Given the description of an element on the screen output the (x, y) to click on. 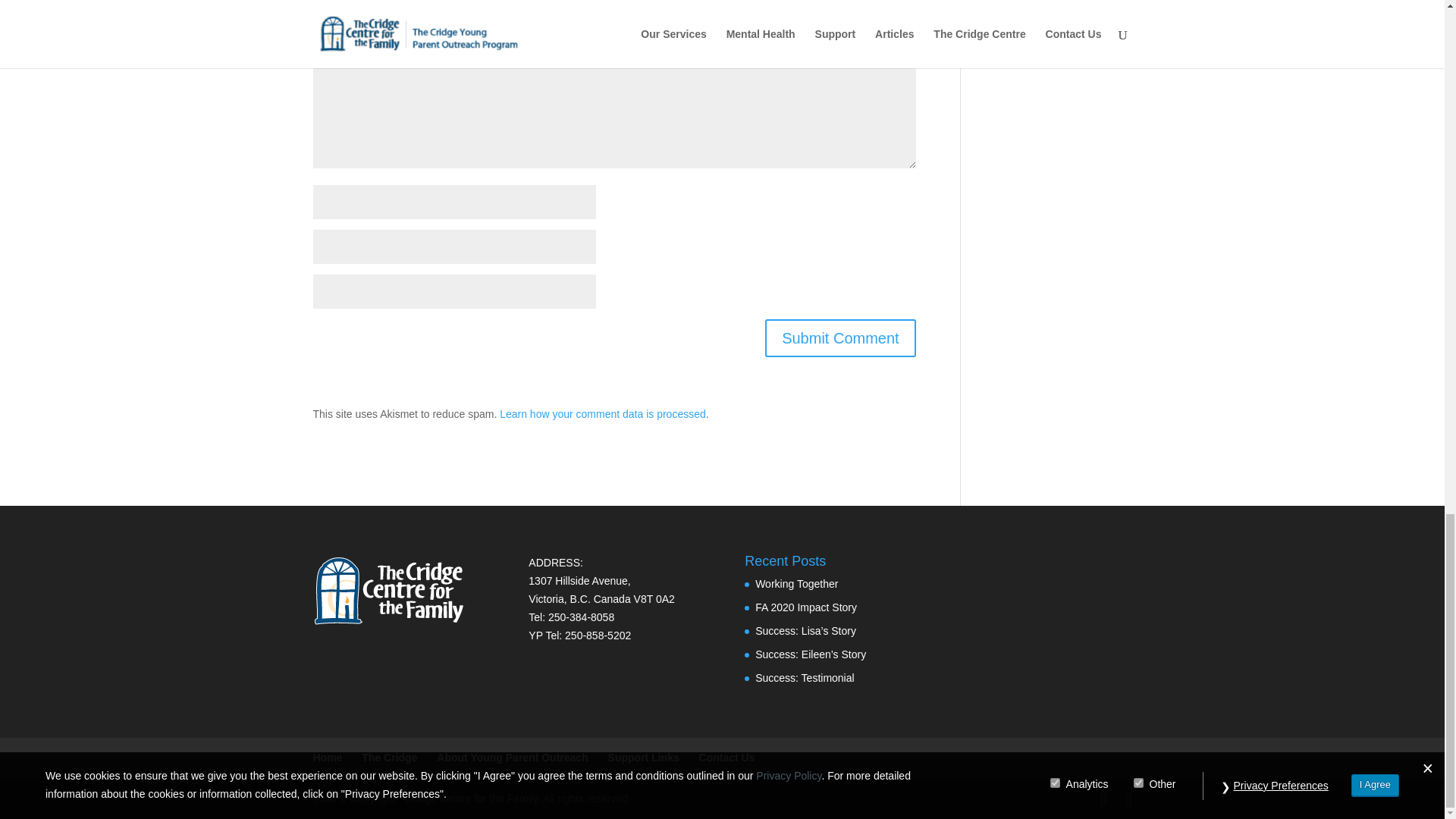
Home (327, 757)
Support Links (643, 757)
FA 2020 Impact Story (806, 607)
Learn how your comment data is processed (602, 413)
Submit Comment (840, 338)
The Cridge (388, 757)
About Young Parent Outreach (512, 757)
Success: Testimonial (804, 677)
Working Together (796, 583)
Contact Us (726, 757)
Submit Comment (840, 338)
